Given the description of an element on the screen output the (x, y) to click on. 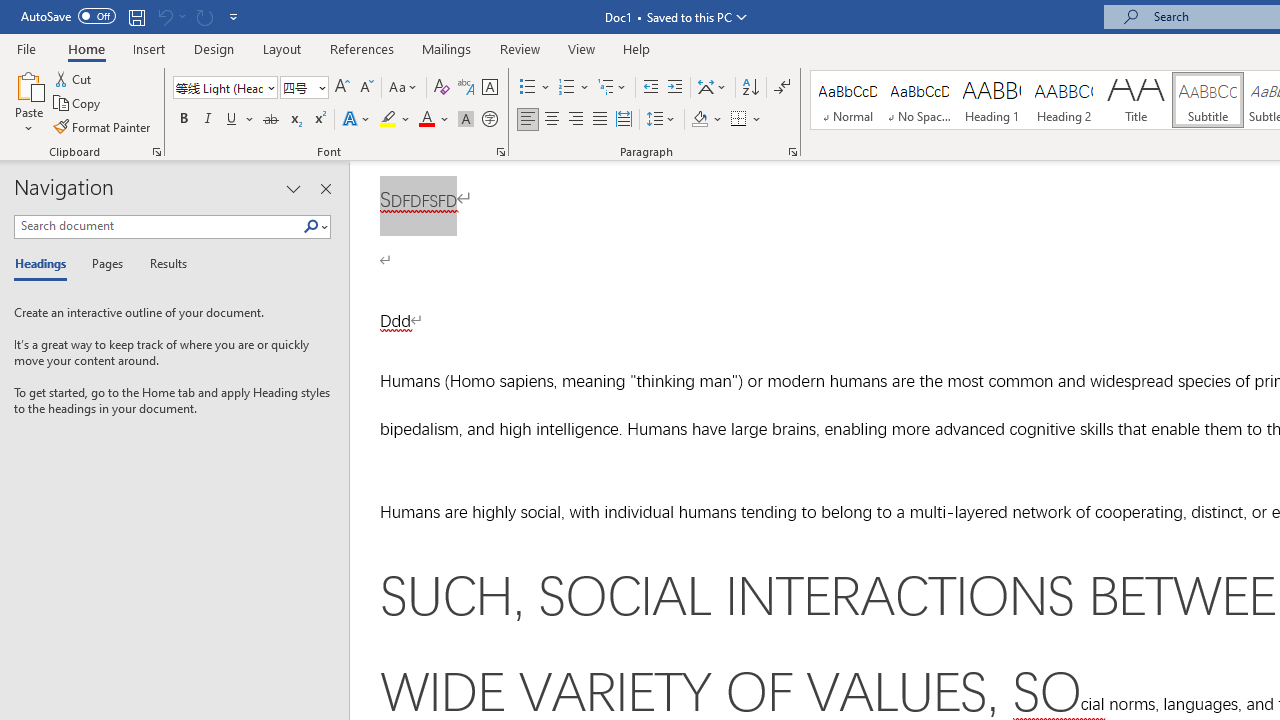
Can't Undo (164, 15)
Title (1135, 100)
Search document (157, 226)
Justify (599, 119)
Underline (232, 119)
Home (86, 48)
Italic (207, 119)
Can't Undo (170, 15)
File Tab (26, 48)
Bullets (535, 87)
Numbering (566, 87)
Character Shading (465, 119)
Font Size (297, 87)
Customize Quick Access Toolbar (234, 15)
